Given the description of an element on the screen output the (x, y) to click on. 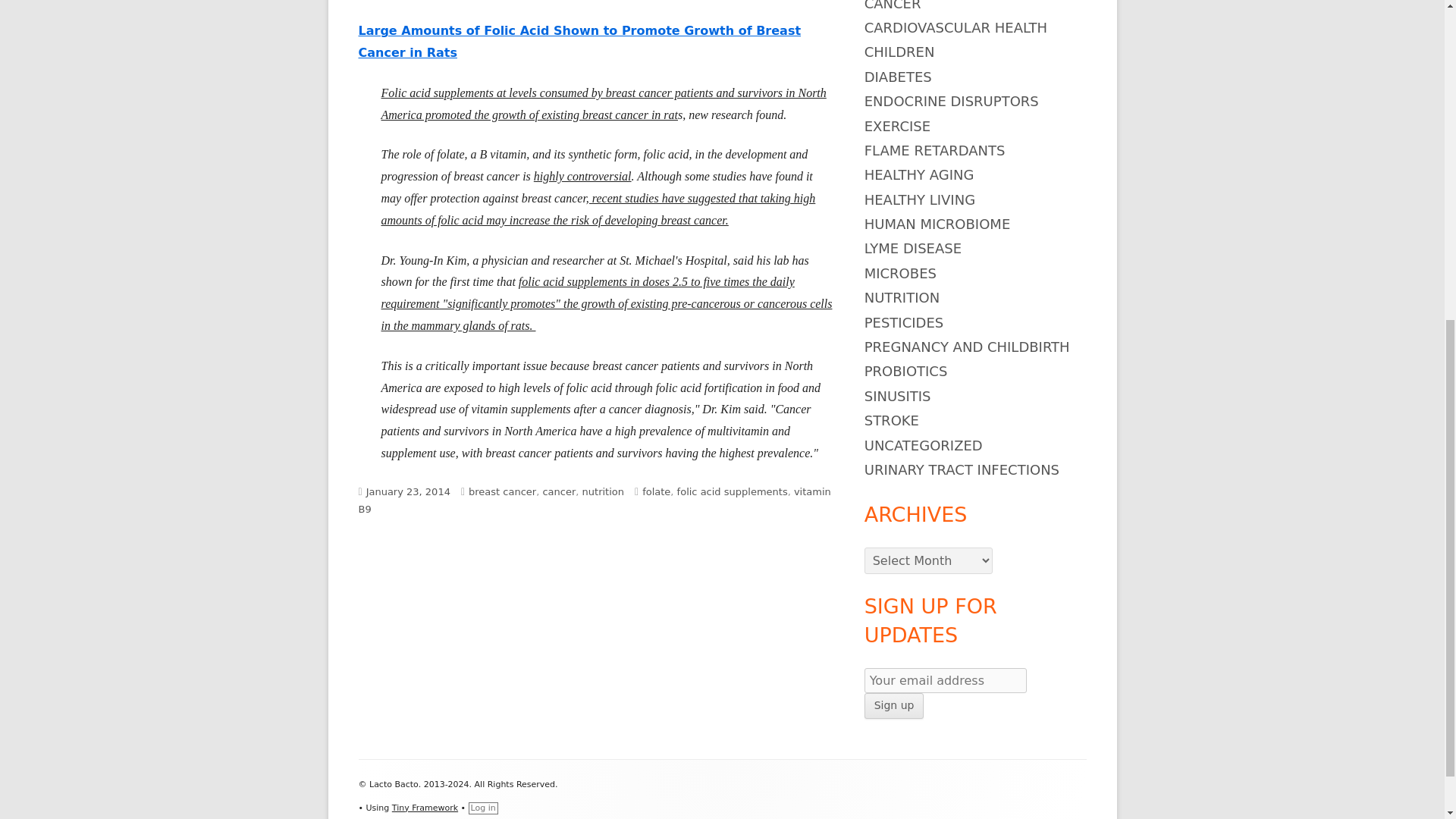
Sign up (894, 705)
FLAME RETARDANTS (935, 150)
folic acid supplements (732, 491)
HEALTHY AGING (919, 174)
breast cancer (501, 491)
folate (655, 491)
HUMAN MICROBIOME (937, 223)
CANCER (892, 5)
HEALTHY LIVING (919, 199)
vitamin B9 (593, 500)
ENDOCRINE DISRUPTORS (951, 100)
CARDIOVASCULAR HEALTH (955, 27)
January 23, 2014 (407, 491)
